Given the description of an element on the screen output the (x, y) to click on. 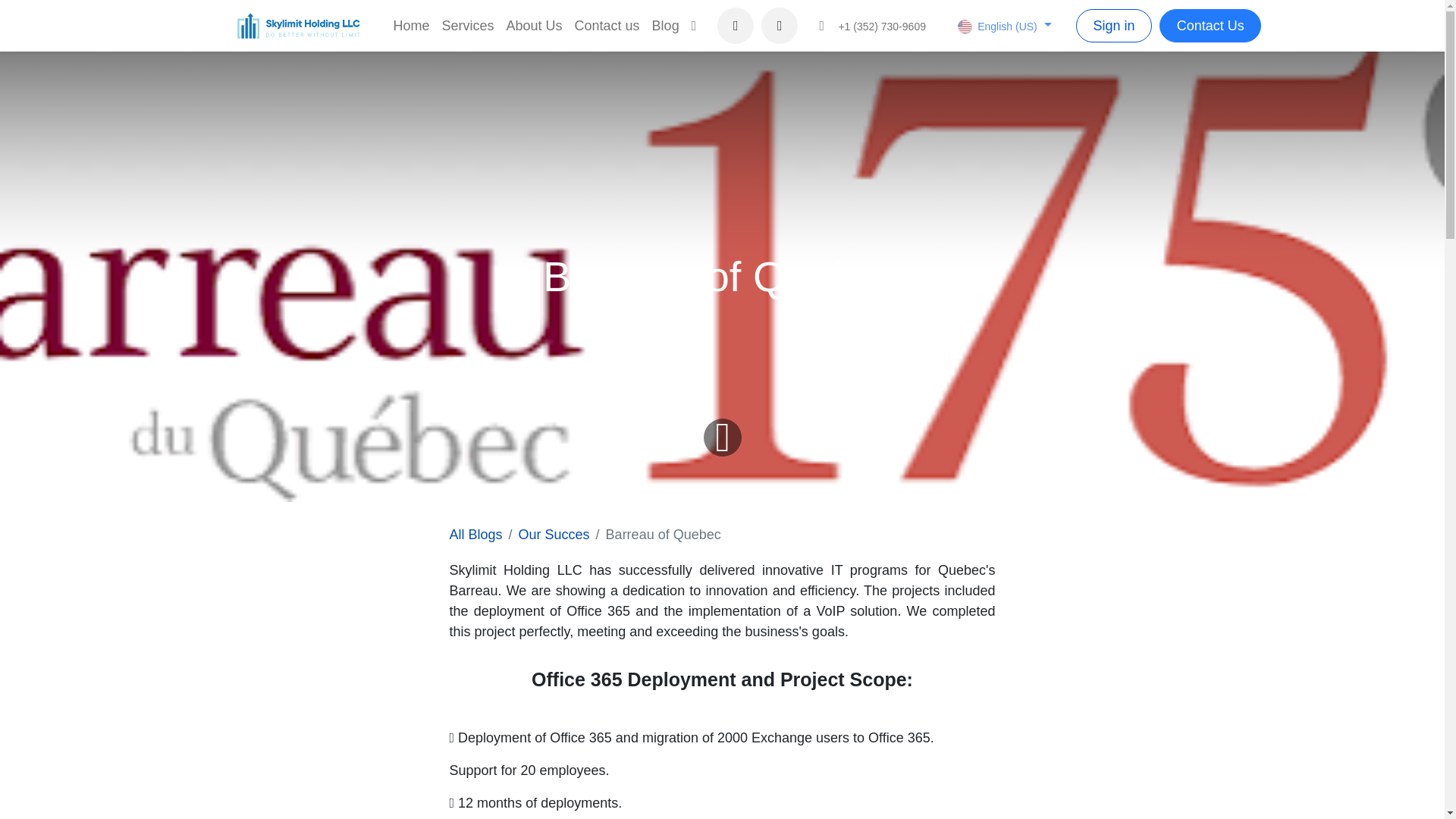
Services (467, 25)
Blog (665, 25)
Sign in (1113, 25)
Contact Us (1209, 25)
Skylimit Holding LLC (298, 25)
Contact us (607, 25)
Home (411, 25)
About Us (534, 25)
Search (779, 25)
